Given the description of an element on the screen output the (x, y) to click on. 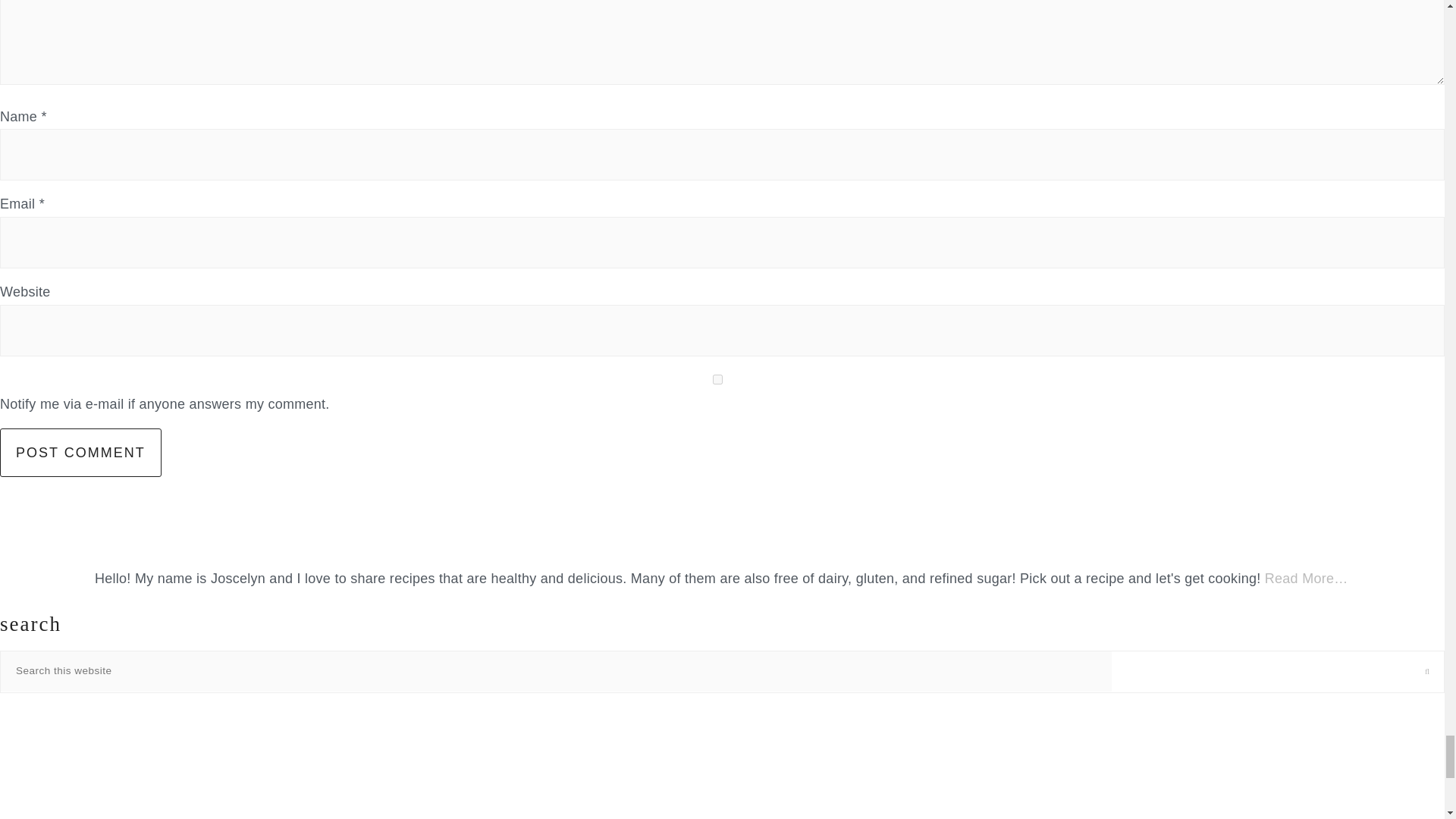
Post Comment (80, 452)
Facebook (120, 749)
Instagram (120, 816)
